Given the description of an element on the screen output the (x, y) to click on. 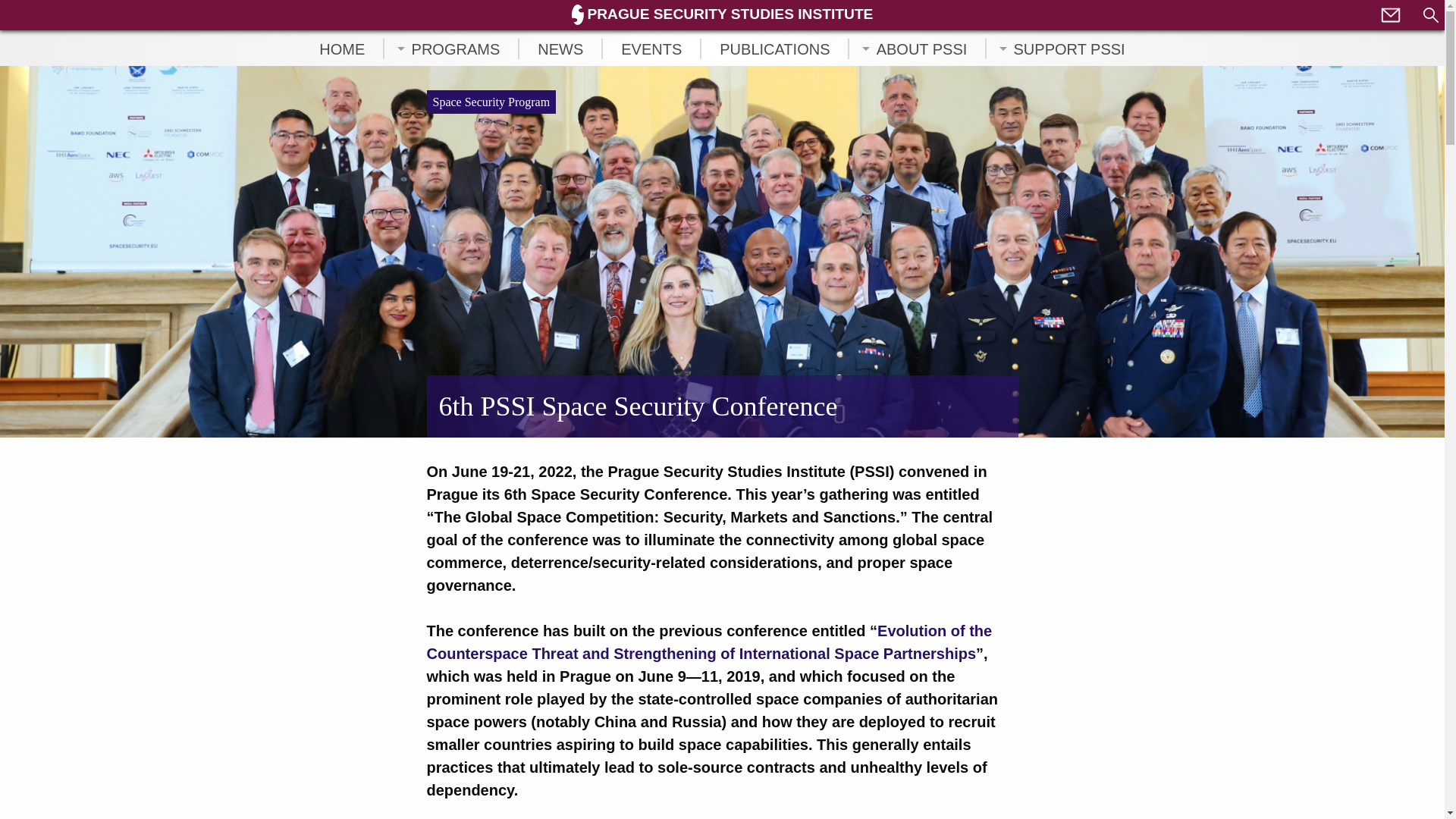
Space Security Program (491, 101)
Search (1430, 14)
News (560, 48)
EVENTS (651, 48)
Events (651, 48)
Subscribe to our Newsletter (1390, 13)
SUPPORT PSSI (1068, 48)
PROGRAMS (455, 48)
NEWS (560, 48)
PUBLICATIONS (774, 48)
Publications (774, 48)
ABOUT PSSI (922, 48)
HOME (341, 48)
